Given the description of an element on the screen output the (x, y) to click on. 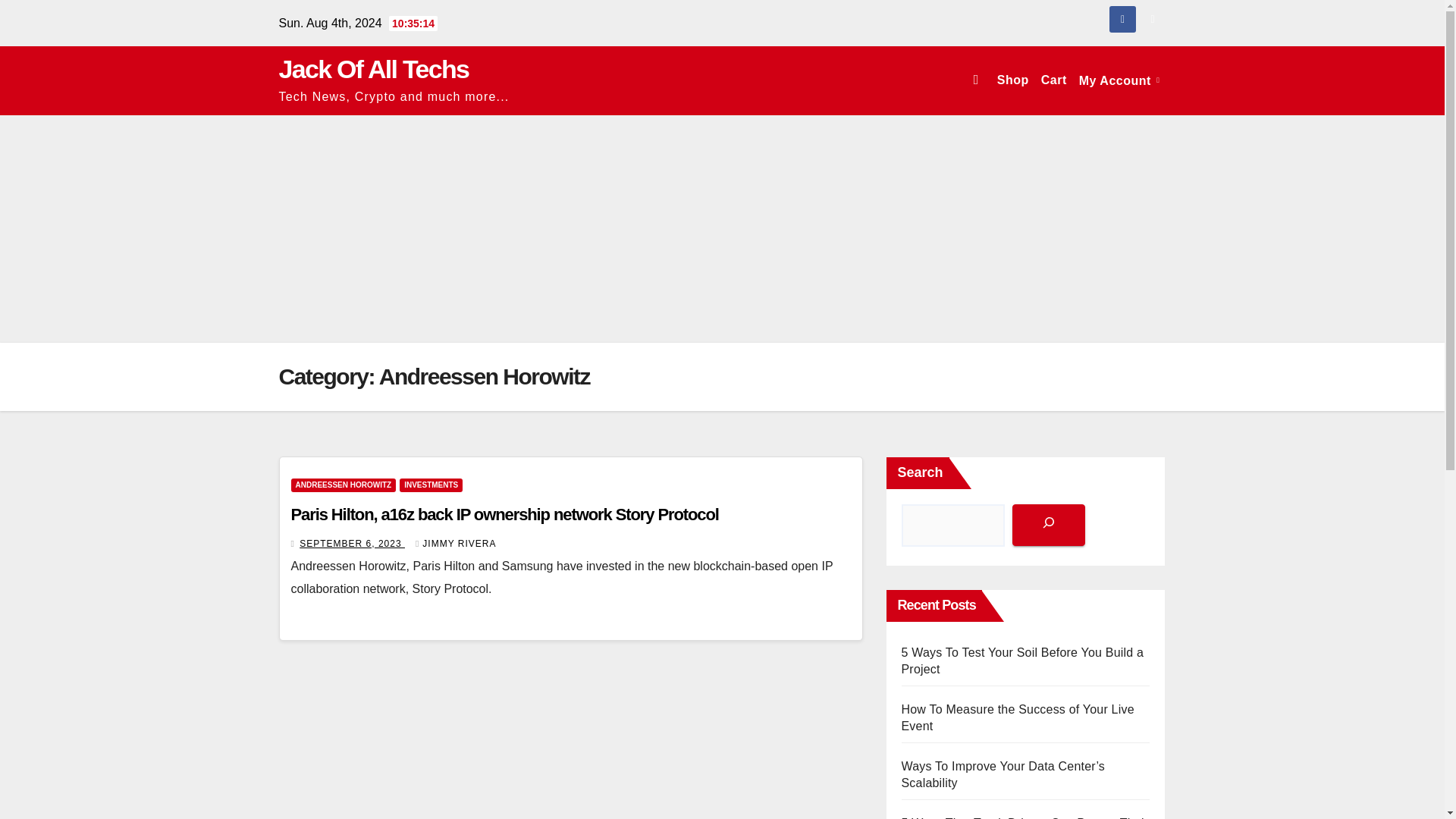
SEPTEMBER 6, 2023 (351, 543)
5 Ways That Truck Drivers Can Protect Their Loads (1024, 717)
JIMMY RIVERA (455, 543)
My Account (1119, 80)
INVESTMENTS (430, 485)
ANDREESSEN HOROWITZ (343, 485)
Jack Of All Techs (373, 68)
Certifications Anyone Can Take for Career Advancement (1017, 774)
